Given the description of an element on the screen output the (x, y) to click on. 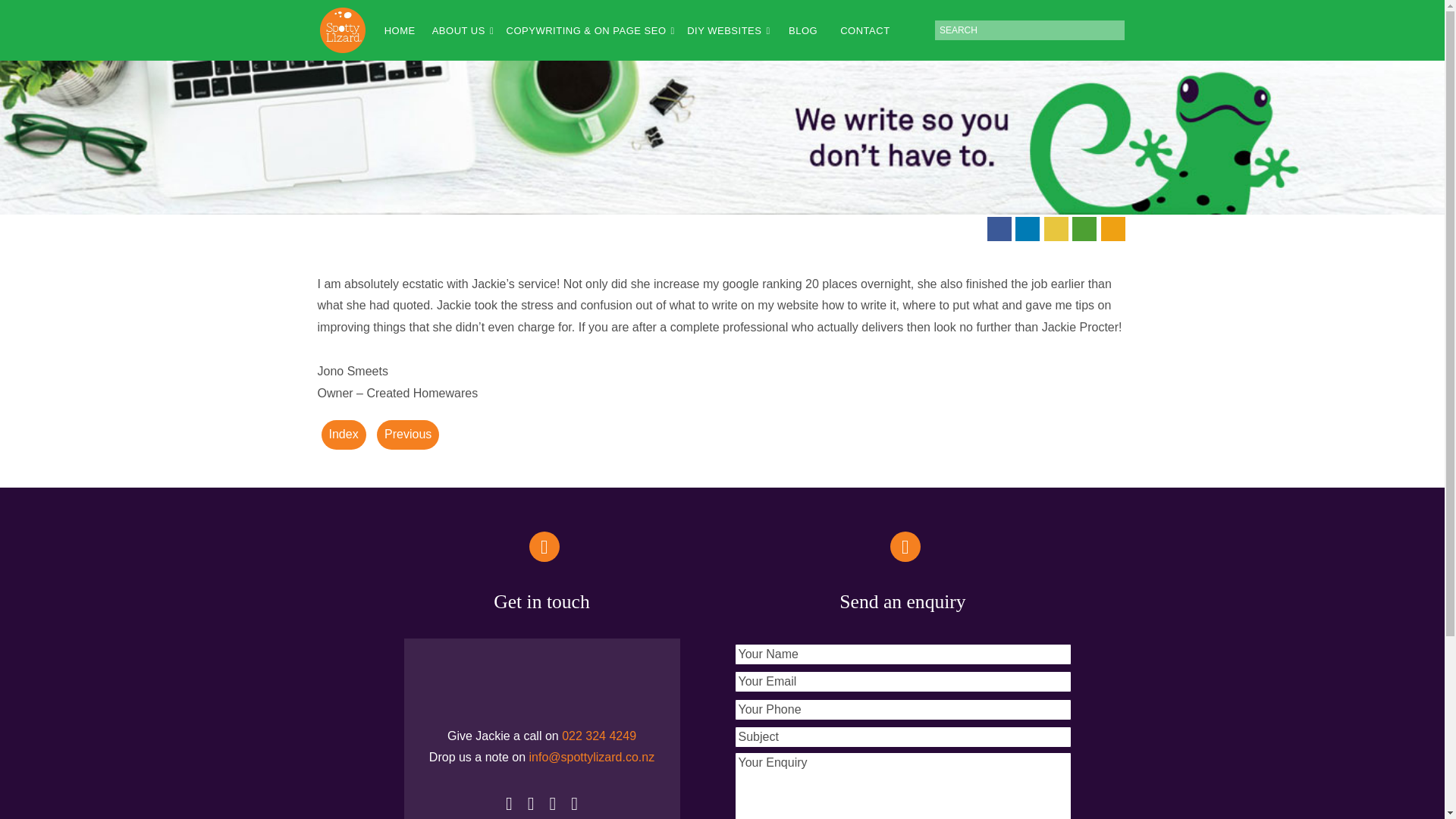
BLOG (794, 30)
HOME (391, 30)
Previous (408, 434)
View Shopping Cart (1112, 228)
ABOUT US (453, 30)
022 324 4249 (599, 735)
DIY WEBSITES (719, 30)
Phone Numbers and Contact Details (1083, 228)
Index (343, 434)
CONTACT (857, 30)
